Given the description of an element on the screen output the (x, y) to click on. 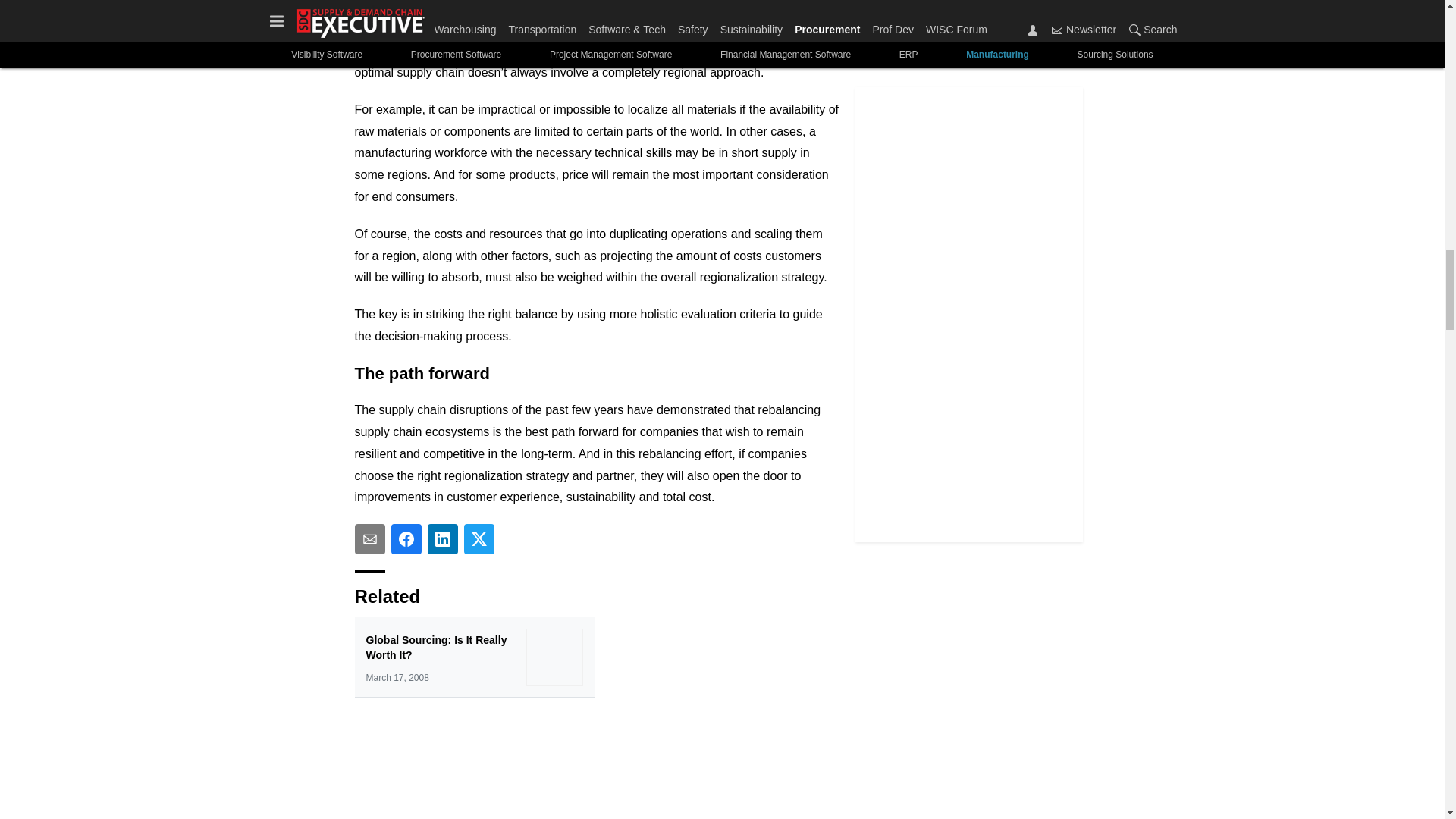
Share To twitter (479, 539)
Share To email (370, 539)
Interaction questions (597, 760)
Share To linkedin (443, 539)
Share To facebook (406, 539)
